Given the description of an element on the screen output the (x, y) to click on. 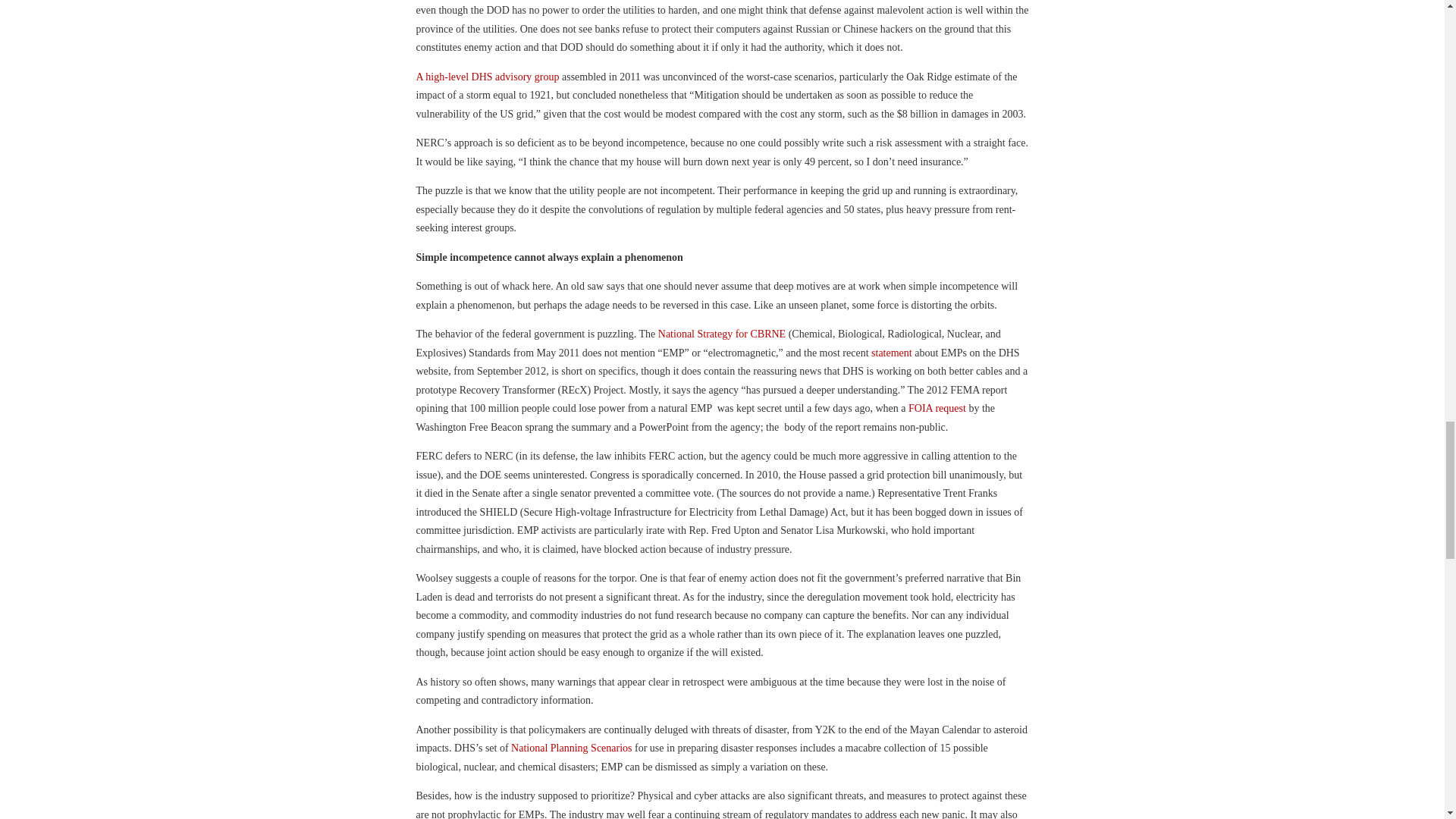
National Planning Scenarios (571, 747)
FOIA request (937, 408)
A high-level DHS advisory group (486, 76)
statement (891, 352)
National Strategy for CBRNE (722, 333)
